Given the description of an element on the screen output the (x, y) to click on. 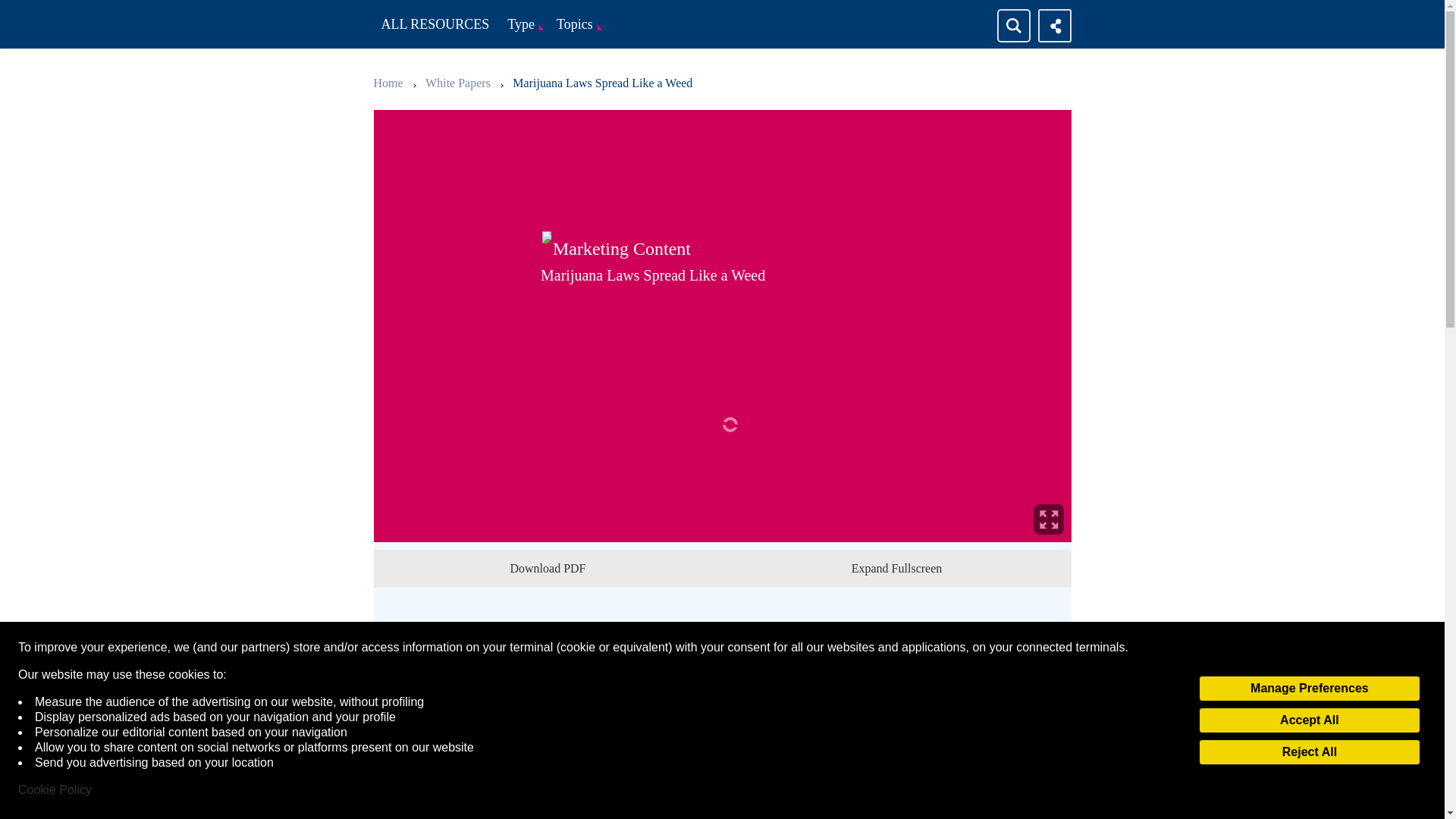
Manage Preferences (1309, 688)
Type (523, 24)
Cookie Policy (54, 789)
White Papers (459, 82)
ALL RESOURCES (434, 24)
Accept All (1309, 720)
Topics (576, 24)
Home (389, 82)
Reject All (1309, 751)
